Given the description of an element on the screen output the (x, y) to click on. 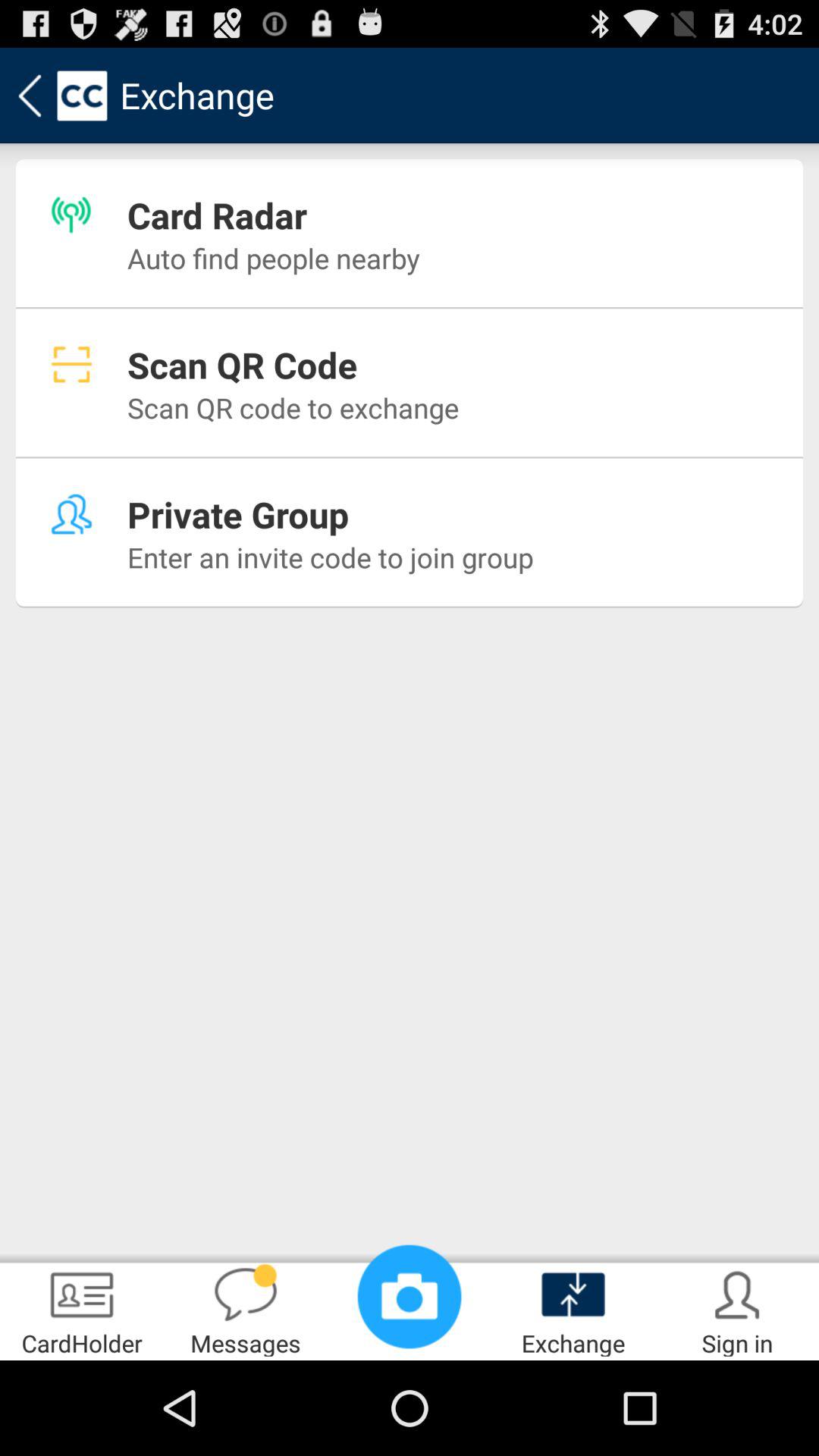
click the sign in item (737, 1309)
